Given the description of an element on the screen output the (x, y) to click on. 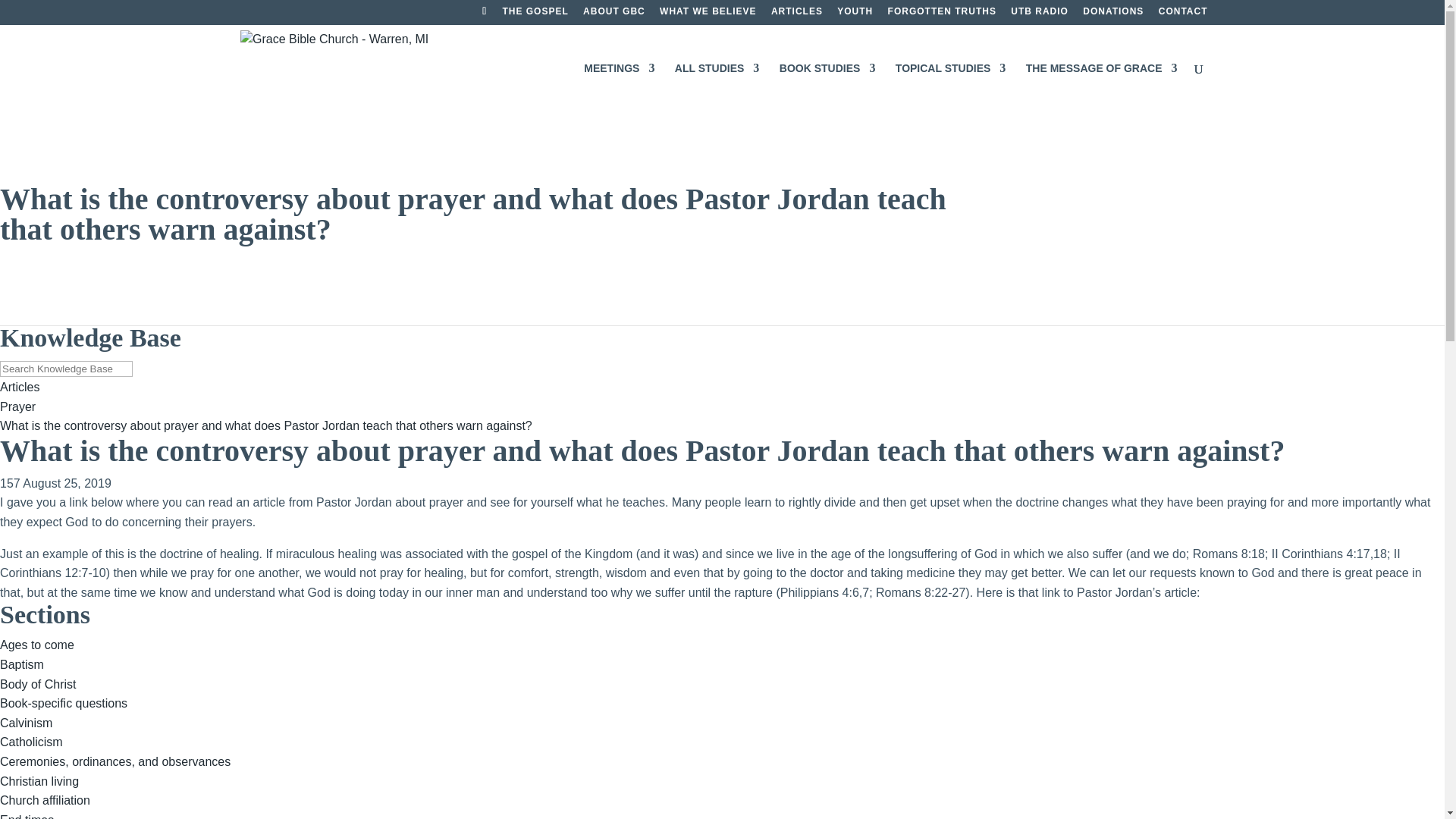
ALL STUDIES (717, 86)
MEETINGS (618, 86)
ABOUT GBC (614, 14)
THE GOSPEL (534, 14)
DONATIONS (1112, 14)
BOOK STUDIES (827, 86)
YOUTH (854, 14)
TOPICAL STUDIES (950, 86)
FORGOTTEN TRUTHS (941, 14)
WHAT WE BELIEVE (707, 14)
